Given the description of an element on the screen output the (x, y) to click on. 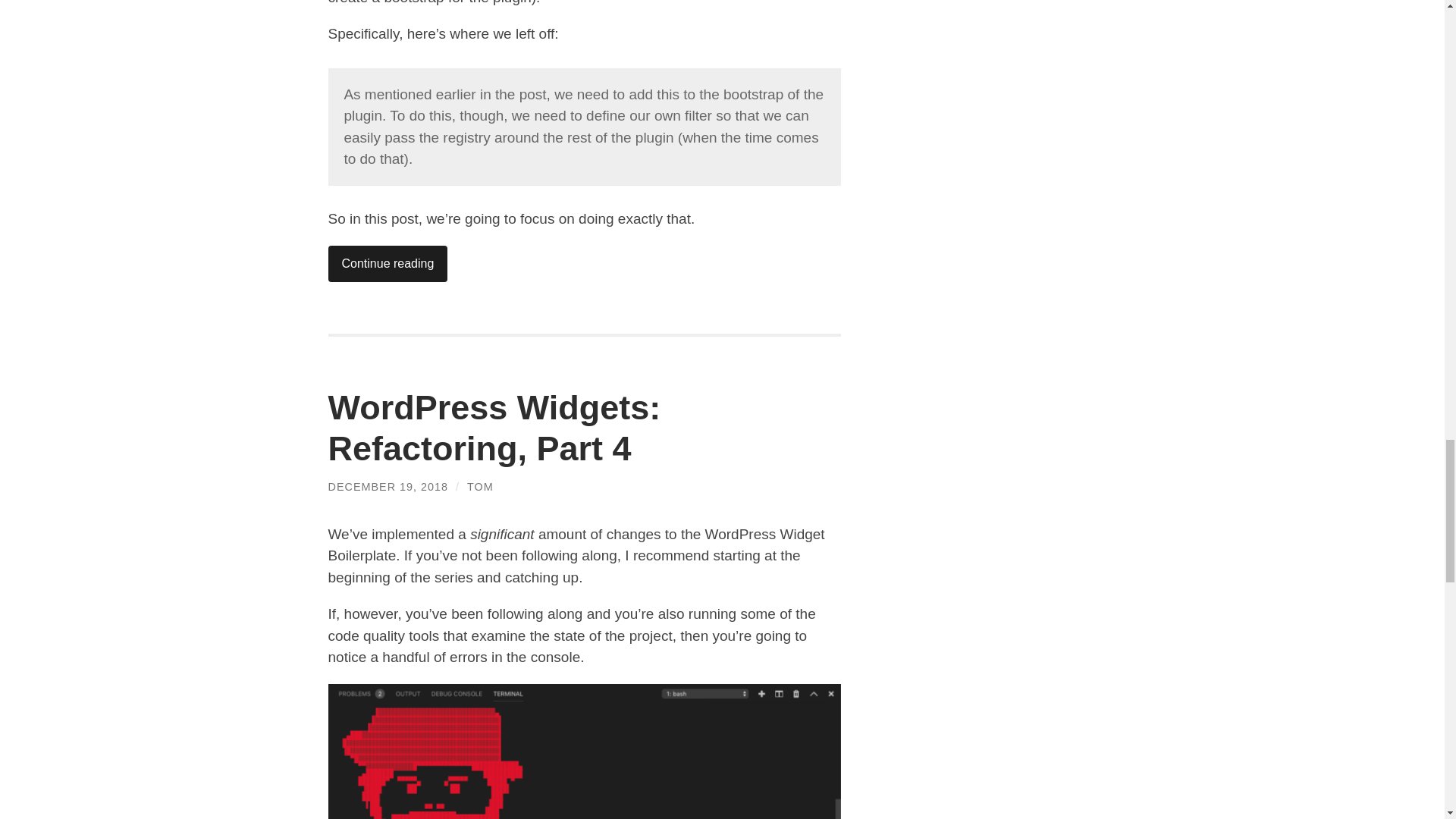
Posts by Tom (480, 486)
